Given the description of an element on the screen output the (x, y) to click on. 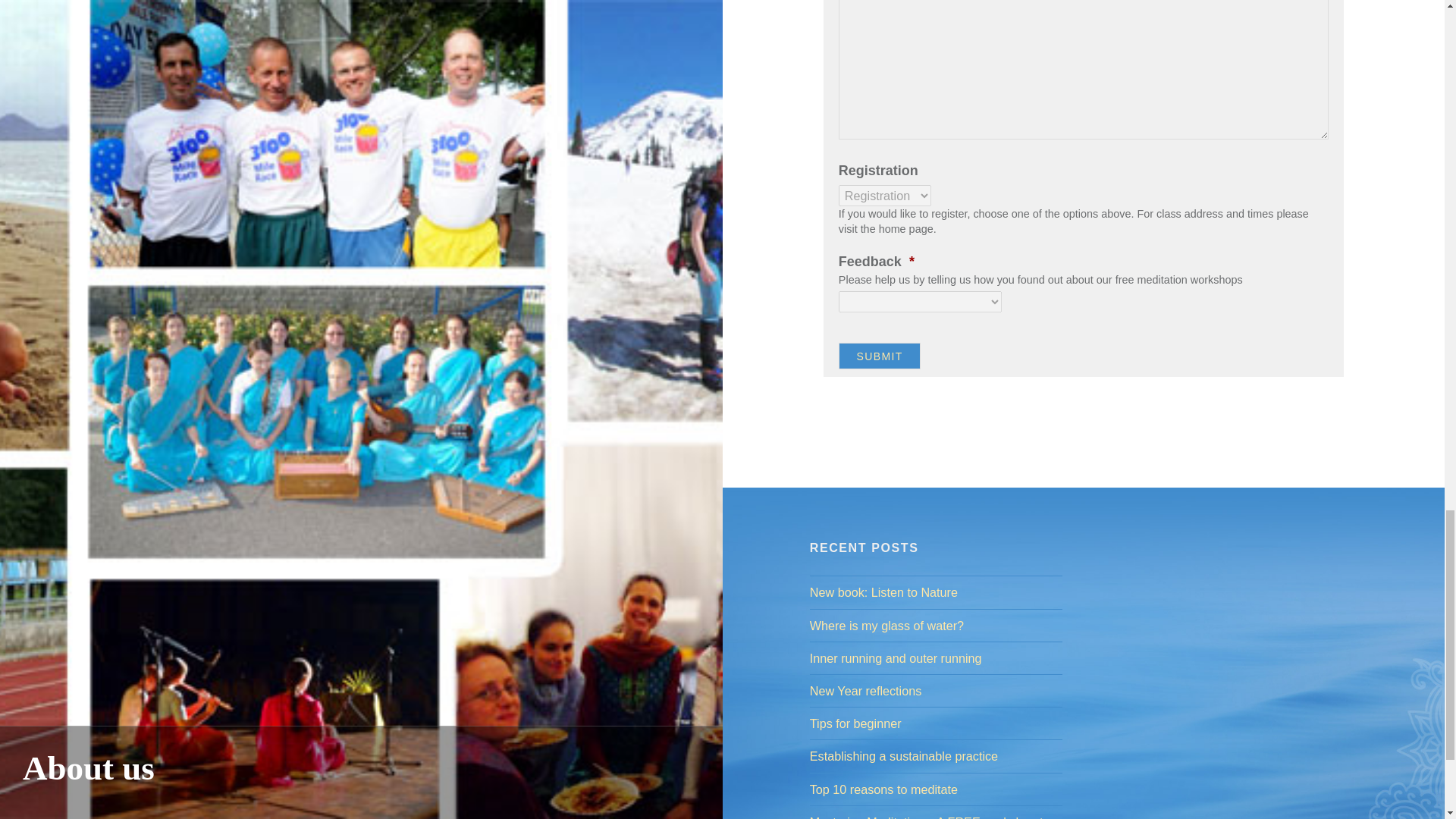
Top 10 reasons to meditate (935, 789)
Where is my glass of water? (935, 625)
Establishing a sustainable practice (935, 755)
New book: Listen to Nature (935, 591)
Submit (879, 356)
New Year reflections (935, 690)
Tips for beginner (935, 723)
Submit (879, 356)
Inner running and outer running (935, 658)
